Given the description of an element on the screen output the (x, y) to click on. 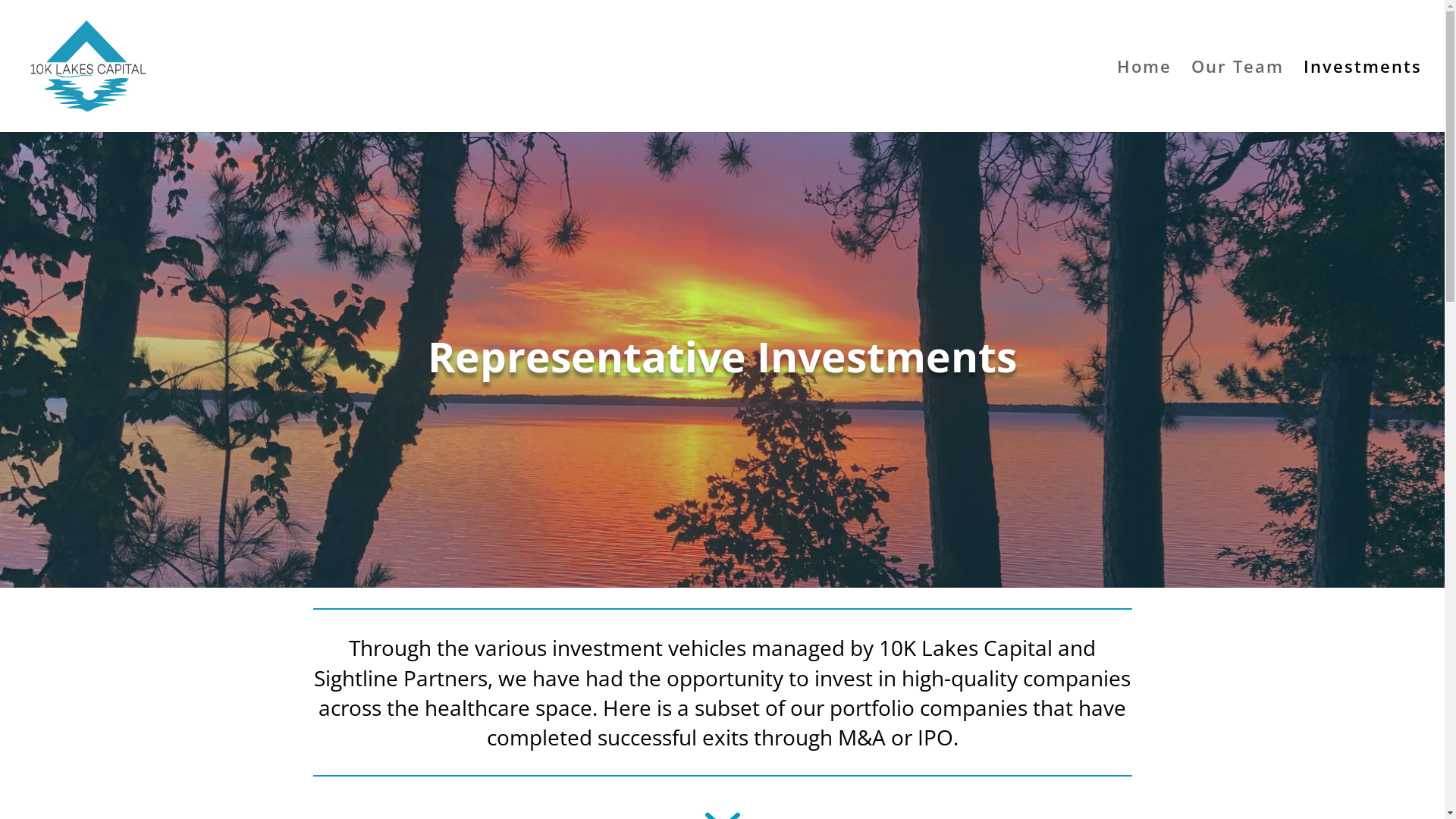
Investments Element type: text (1362, 95)
Home Element type: text (1144, 95)
Our Team Element type: text (1237, 95)
